Given the description of an element on the screen output the (x, y) to click on. 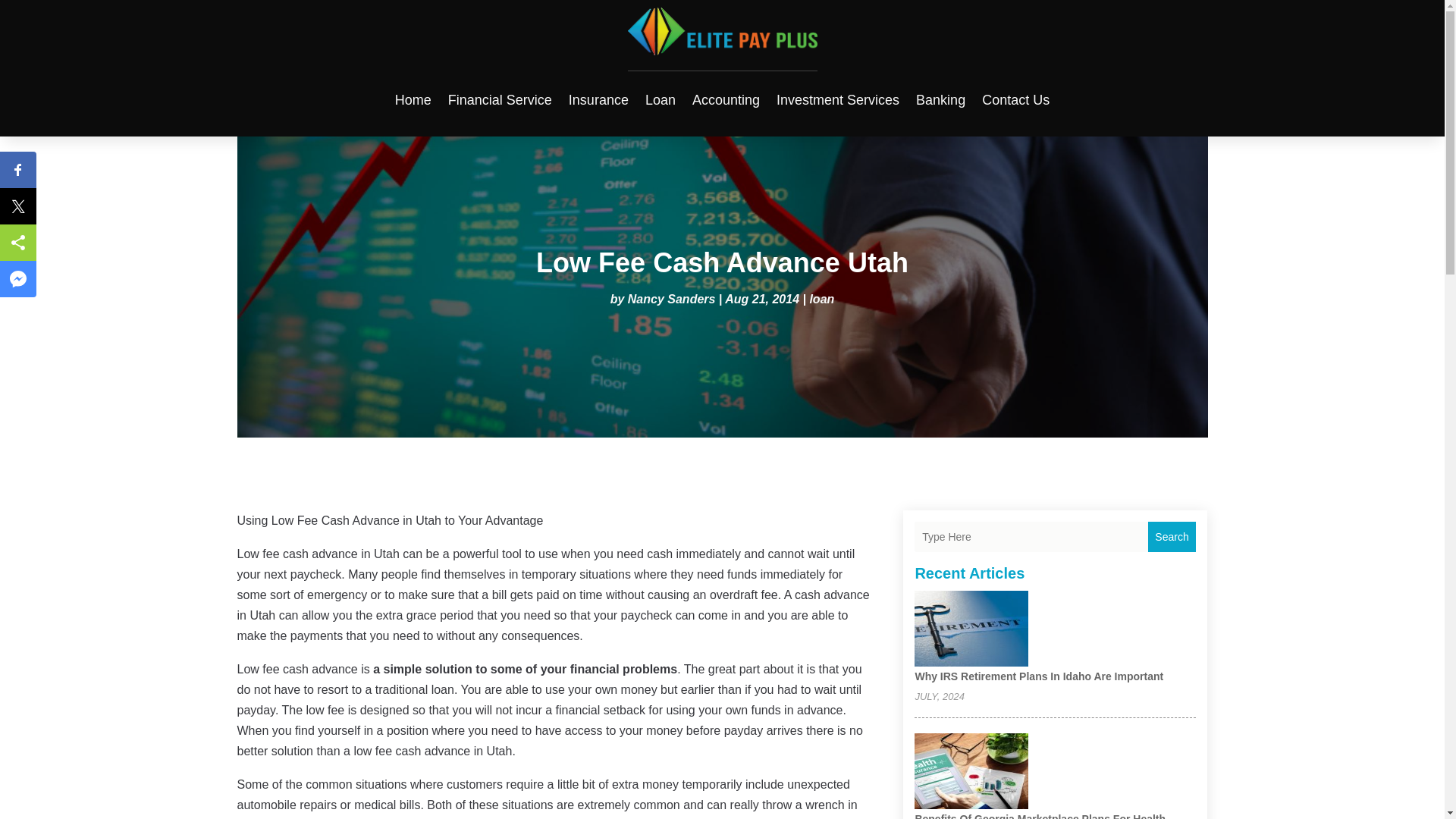
Why IRS Retirement Plans In Idaho Are Important (1038, 676)
Financial Service (499, 99)
Investment Services (837, 99)
Accounting (726, 99)
Nancy Sanders (671, 298)
Benefits Of Georgia Marketplace Plans For Health Insurance (1040, 816)
Posts by Nancy Sanders (671, 298)
Contact Us (1015, 99)
Insurance (598, 99)
Search (1172, 536)
